Given the description of an element on the screen output the (x, y) to click on. 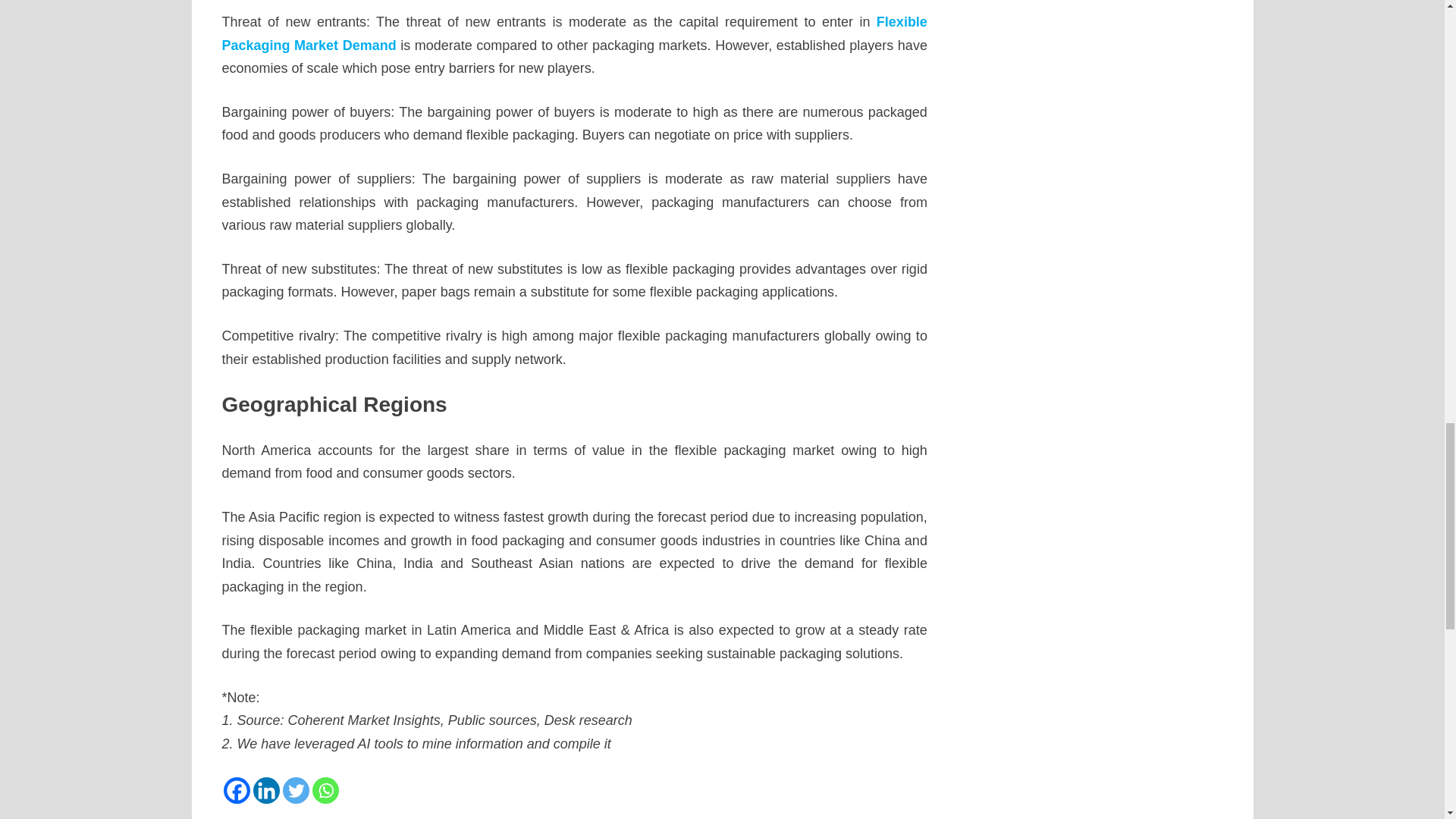
Twitter (295, 790)
Facebook (235, 790)
Whatsapp (326, 790)
Linkedin (266, 790)
